Given the description of an element on the screen output the (x, y) to click on. 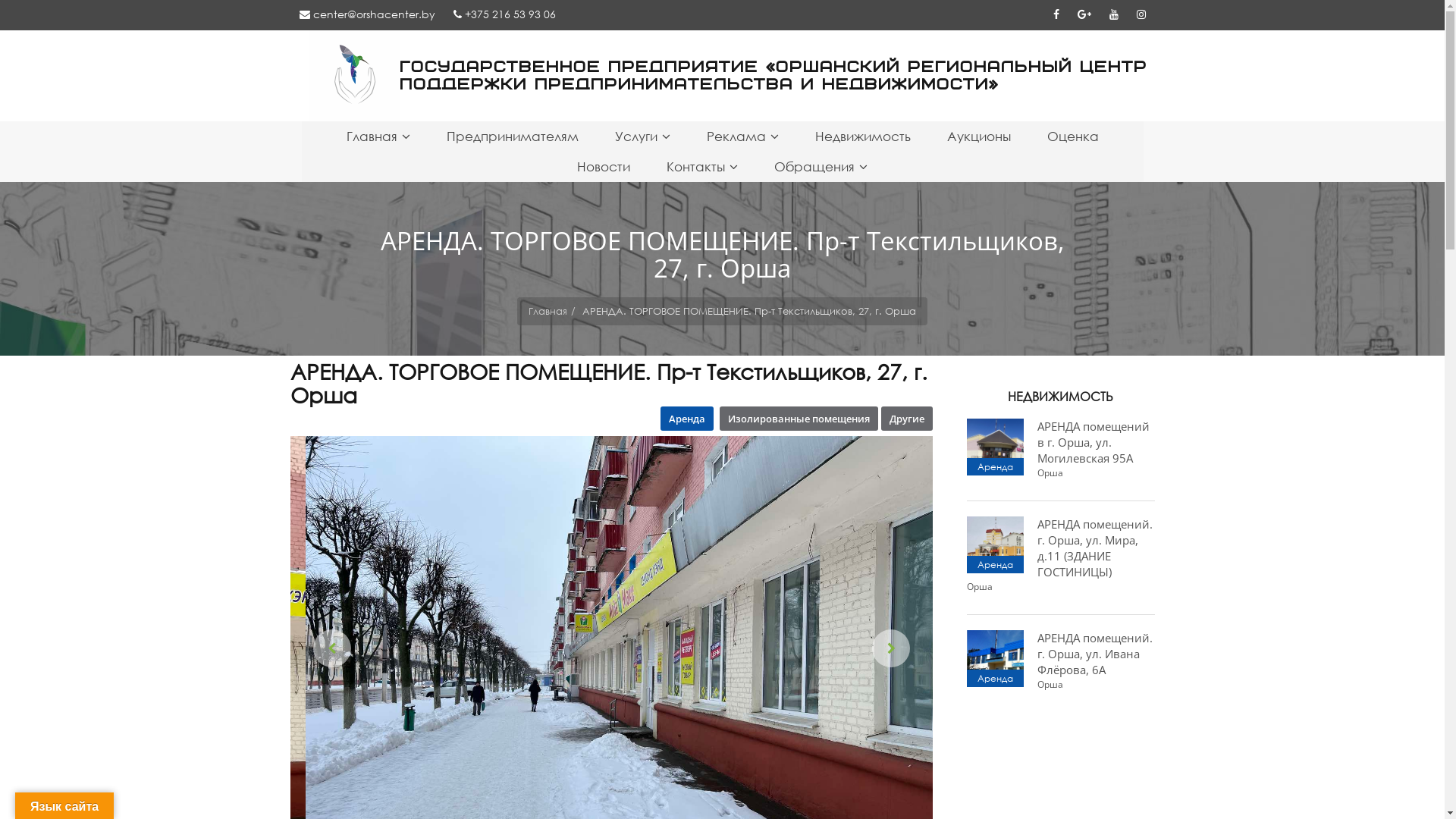
Instagram Element type: hover (1140, 14)
Google Plus Element type: hover (1083, 14)
Facebook Element type: hover (1055, 14)
+375 216 53 93 06 Element type: text (504, 14)
center@orshacenter.by Element type: text (366, 14)
Youtube Element type: hover (1112, 14)
